Given the description of an element on the screen output the (x, y) to click on. 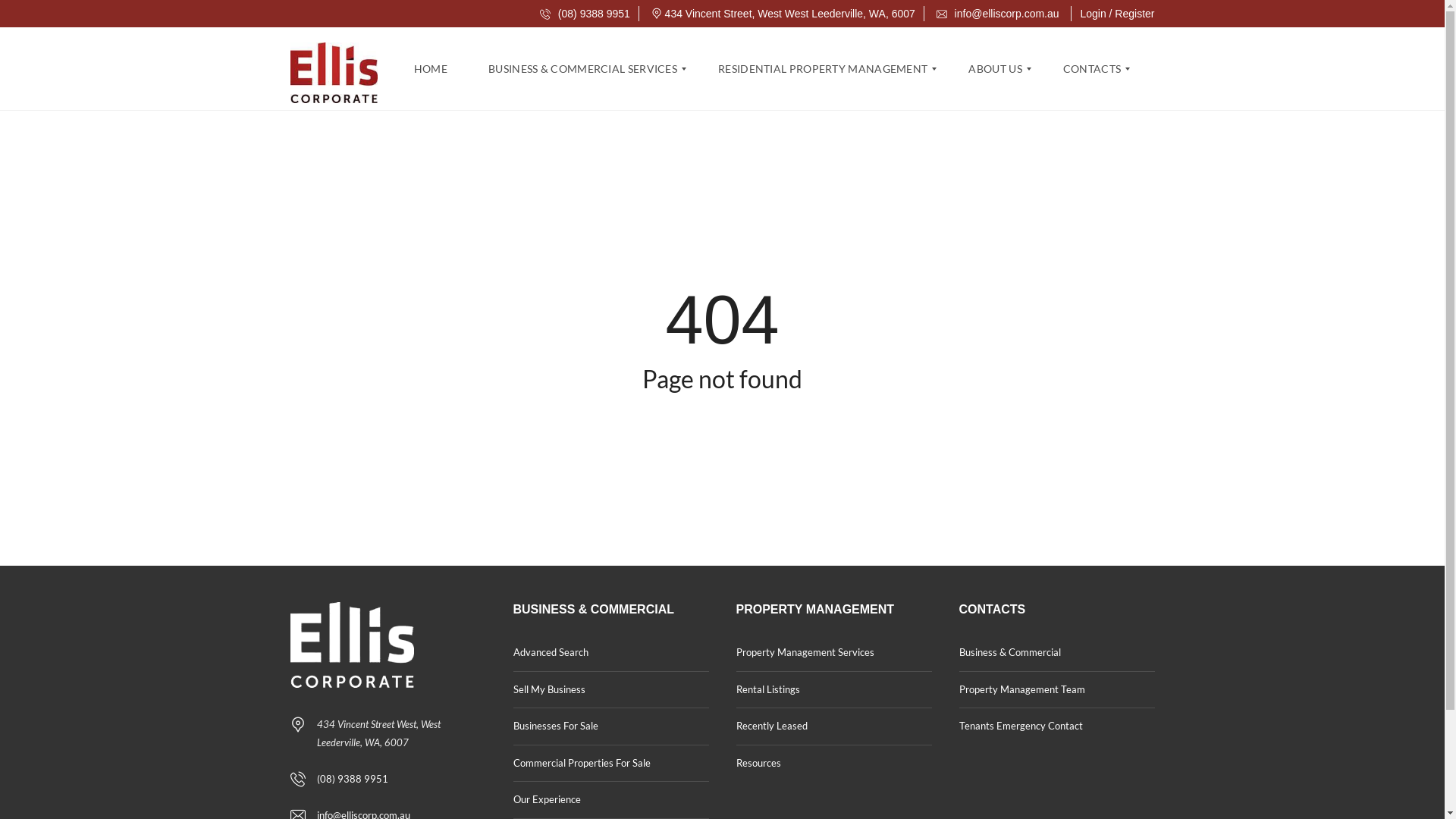
(08) 9388 9951 Element type: text (584, 13)
ABOUT US Element type: text (994, 68)
CONTACTS Element type: text (1091, 68)
(08) 9388 9951 Element type: text (352, 778)
Ellis Corporate Element type: hover (332, 68)
RESIDENTIAL PROPERTY MANAGEMENT Element type: text (822, 68)
Resources Element type: text (833, 763)
HOME Element type: text (437, 68)
Commercial Properties For Sale Element type: text (610, 763)
Sell My Business Element type: text (610, 690)
BUSINESS & COMMERCIAL SERVICES Element type: text (582, 68)
Business & Commercial Element type: text (1056, 652)
info@elliscorp.com.au Element type: text (997, 13)
Rental Listings Element type: text (833, 690)
Businesses For Sale Element type: text (610, 726)
Property Management Services Element type: text (833, 652)
Tenants Emergency Contact Element type: text (1056, 726)
Recently Leased Element type: text (833, 726)
Advanced Search Element type: text (610, 652)
Login / Register Element type: text (1116, 13)
Property Management Team Element type: text (1056, 690)
